Given the description of an element on the screen output the (x, y) to click on. 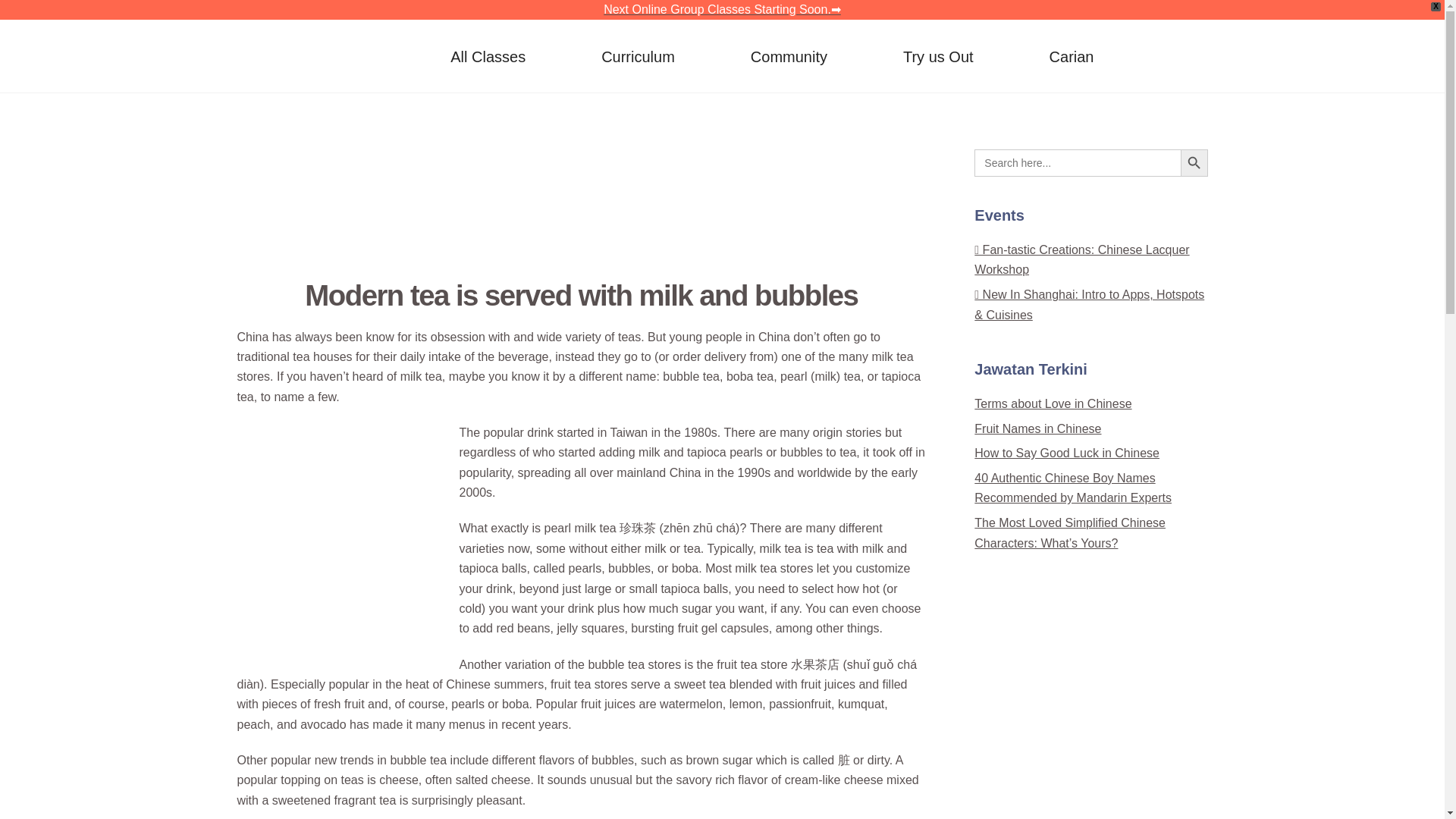
Curriculum (638, 56)
All Classes (487, 56)
Community (788, 56)
Modern tea is served with milk and bubbles (349, 205)
Try us Out (937, 56)
GoEast Mandarin (721, 55)
